Given the description of an element on the screen output the (x, y) to click on. 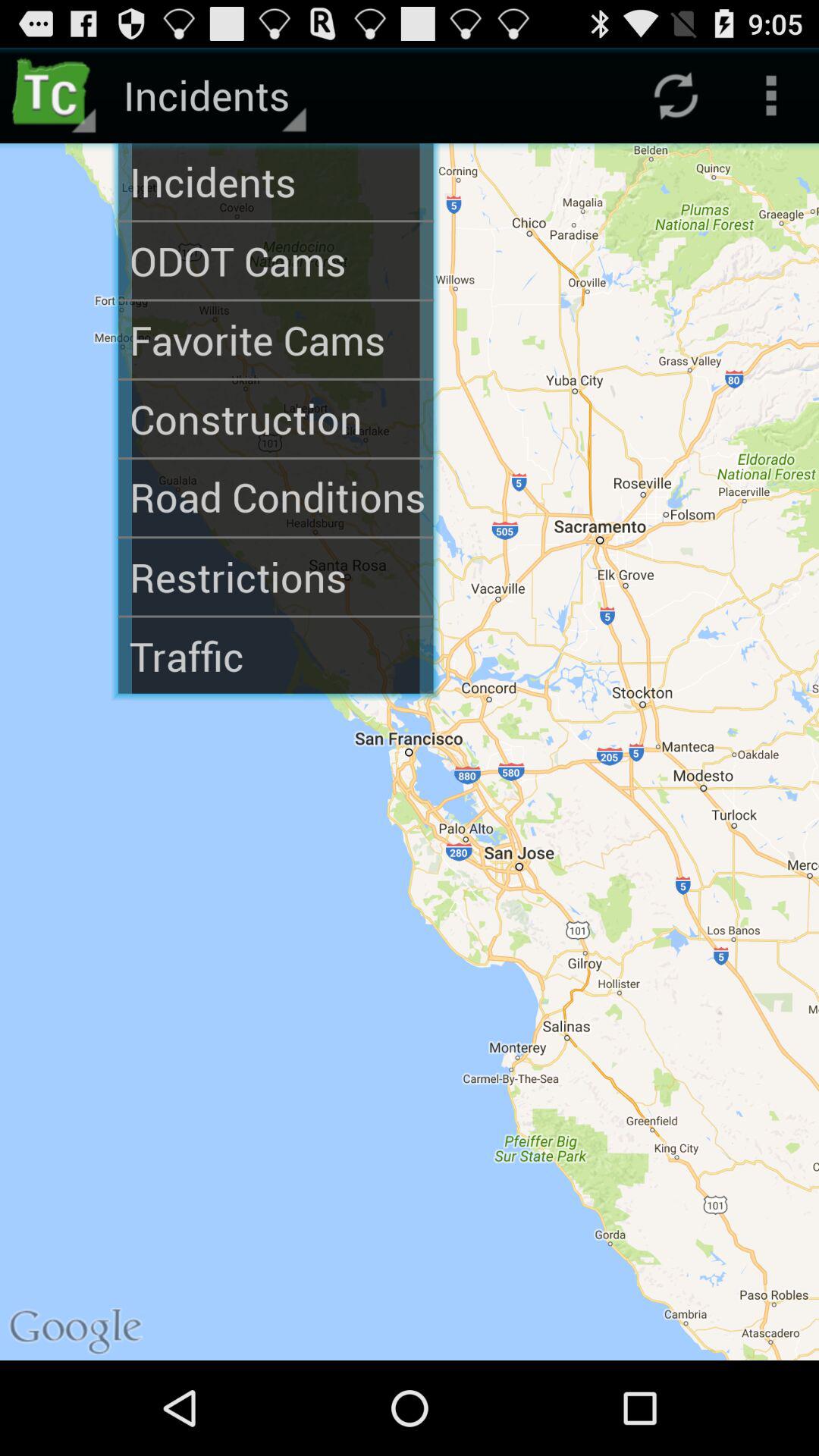
turn on the icon to the left of the incidents app (55, 95)
